Given the description of an element on the screen output the (x, y) to click on. 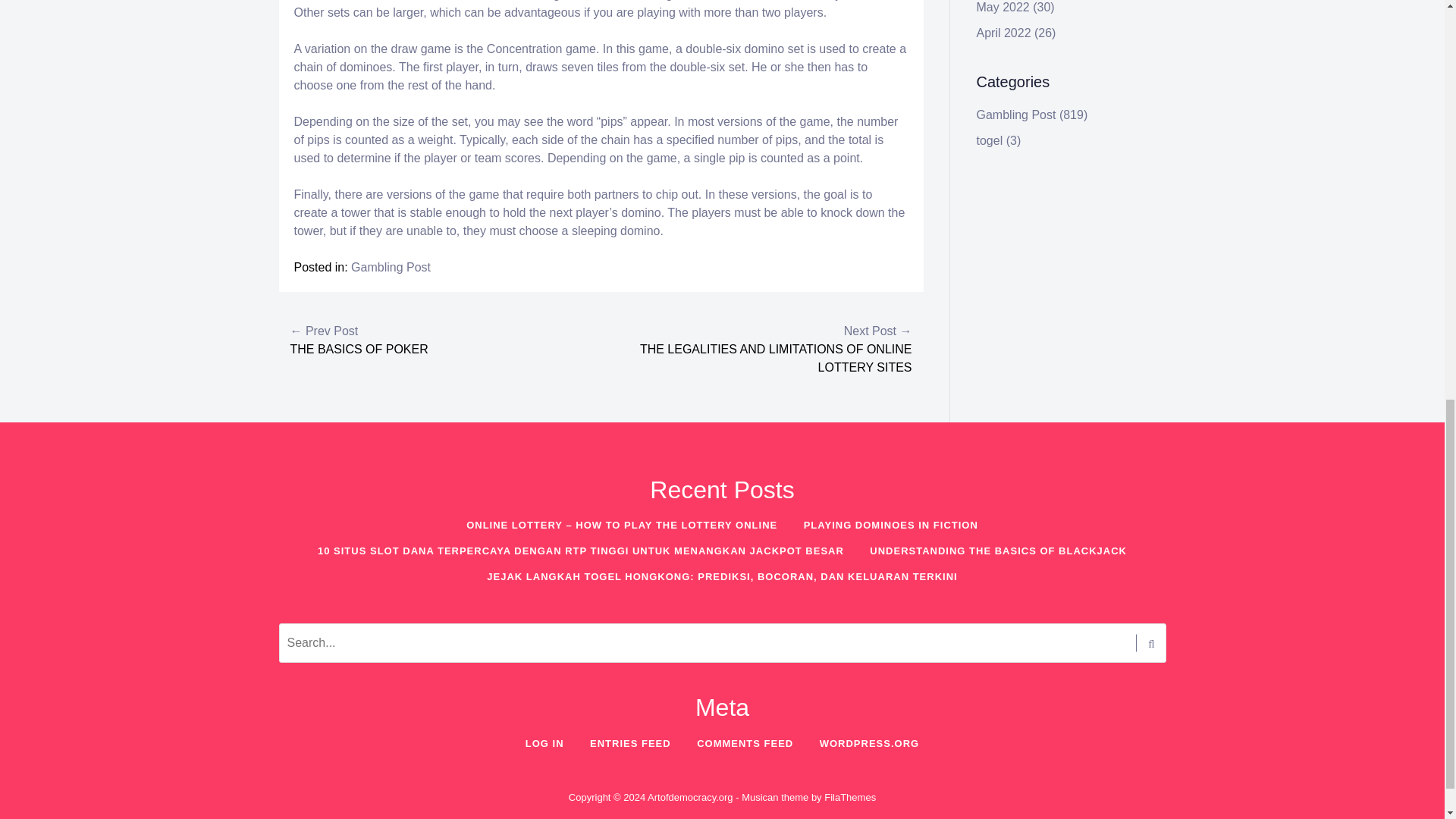
Gambling Post (390, 267)
Artofdemocracy.org (689, 797)
May 2022 (1002, 6)
